Given the description of an element on the screen output the (x, y) to click on. 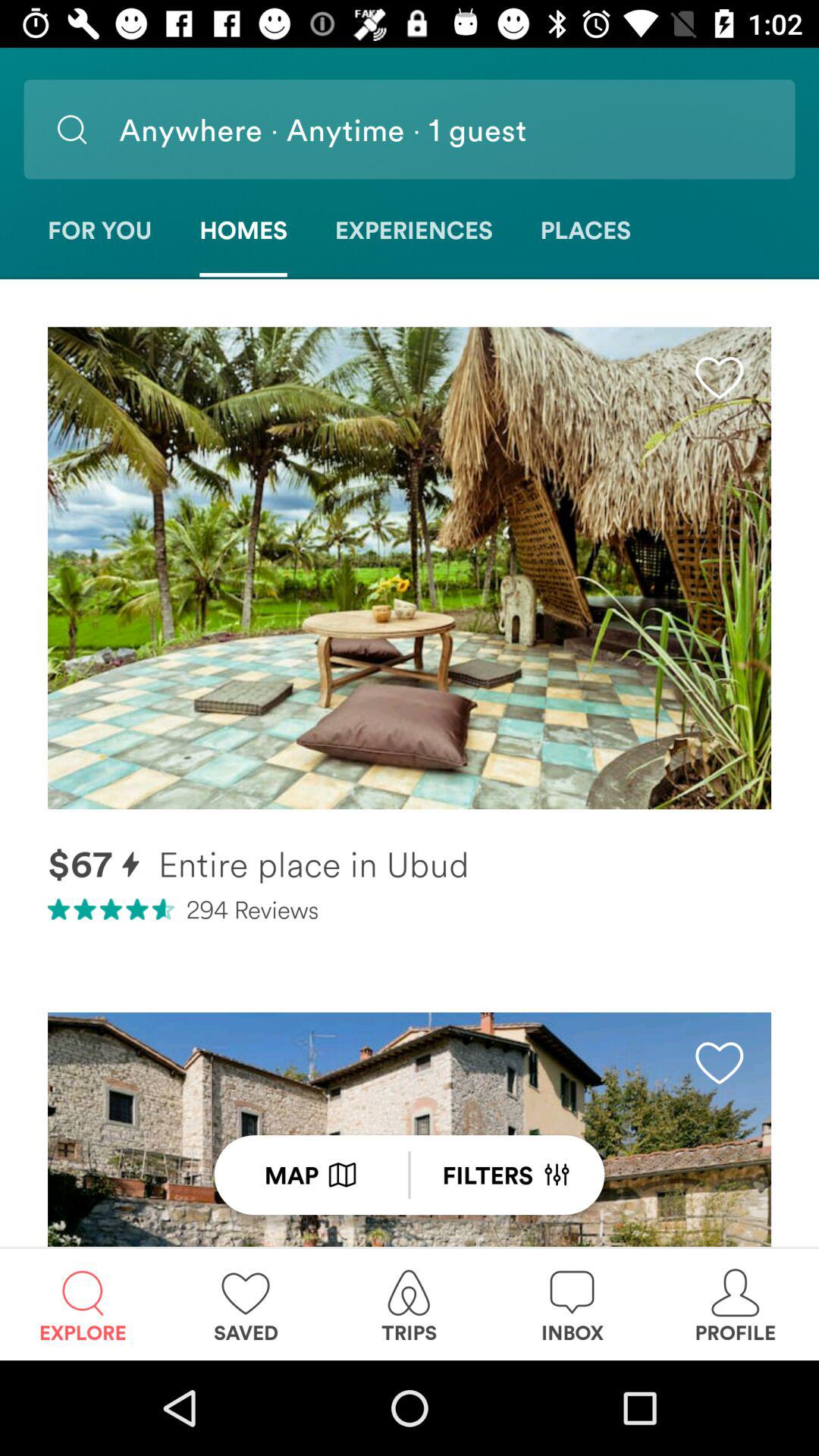
click on the inbox image option down of the page (571, 1282)
